Given the description of an element on the screen output the (x, y) to click on. 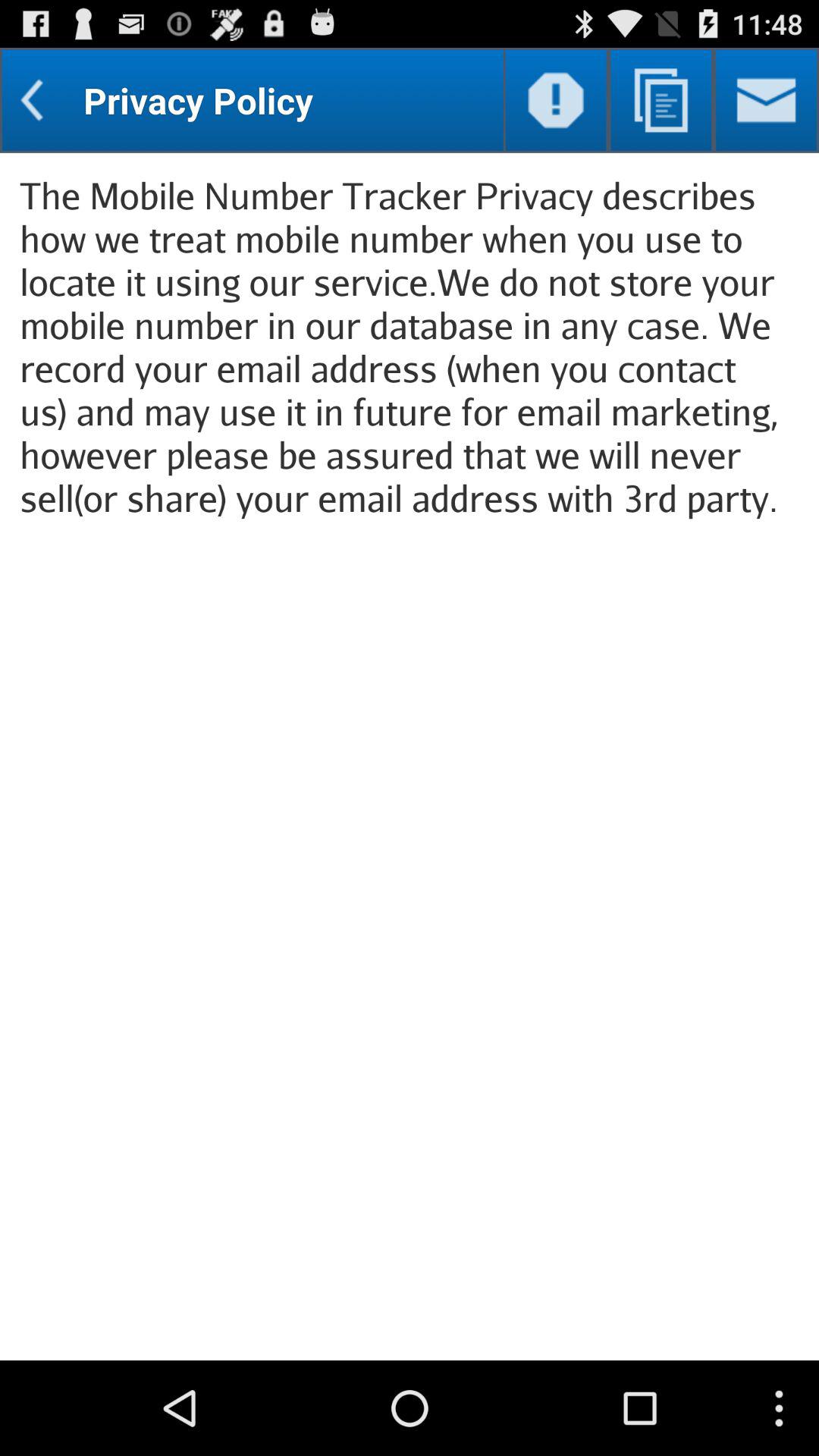
tap icon next to privacy policy app (555, 99)
